Given the description of an element on the screen output the (x, y) to click on. 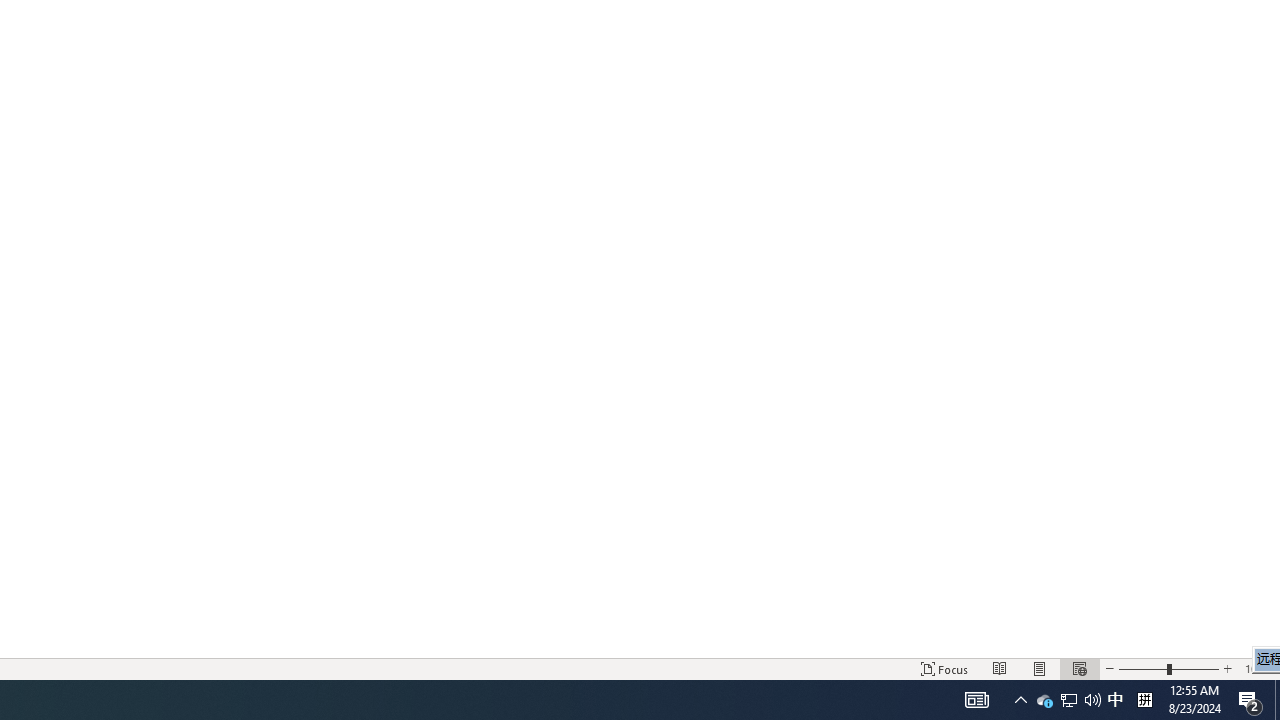
Web Layout (1079, 668)
Focus  (944, 668)
Zoom Out (1142, 668)
Zoom (1168, 668)
Zoom 100% (1258, 668)
Print Layout (1039, 668)
Zoom In (1227, 668)
Read Mode (1000, 668)
